Given the description of an element on the screen output the (x, y) to click on. 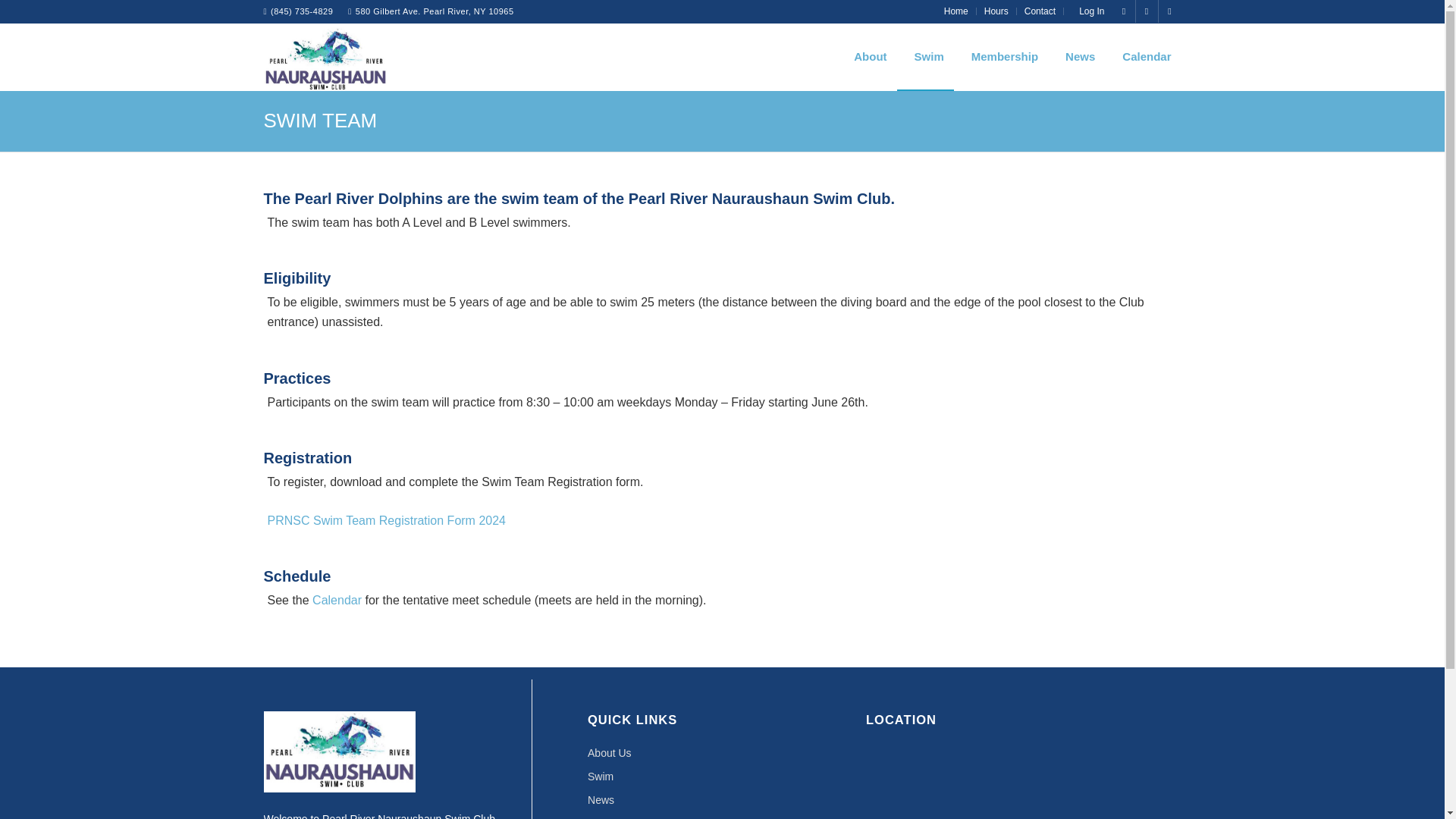
Calendar (1142, 56)
About Us (722, 753)
Permanent Link: Swim Team (320, 119)
pearl-river-logo (325, 60)
Facebook (1146, 11)
Calendar (337, 599)
Instagram (1124, 11)
Membership (1000, 56)
pearl-river-logo (325, 56)
News (722, 800)
About (865, 56)
Calendar (722, 815)
Swim (722, 776)
PRNSC Swim Team Registration Form 2024 (385, 520)
SWIM TEAM (320, 119)
